Given the description of an element on the screen output the (x, y) to click on. 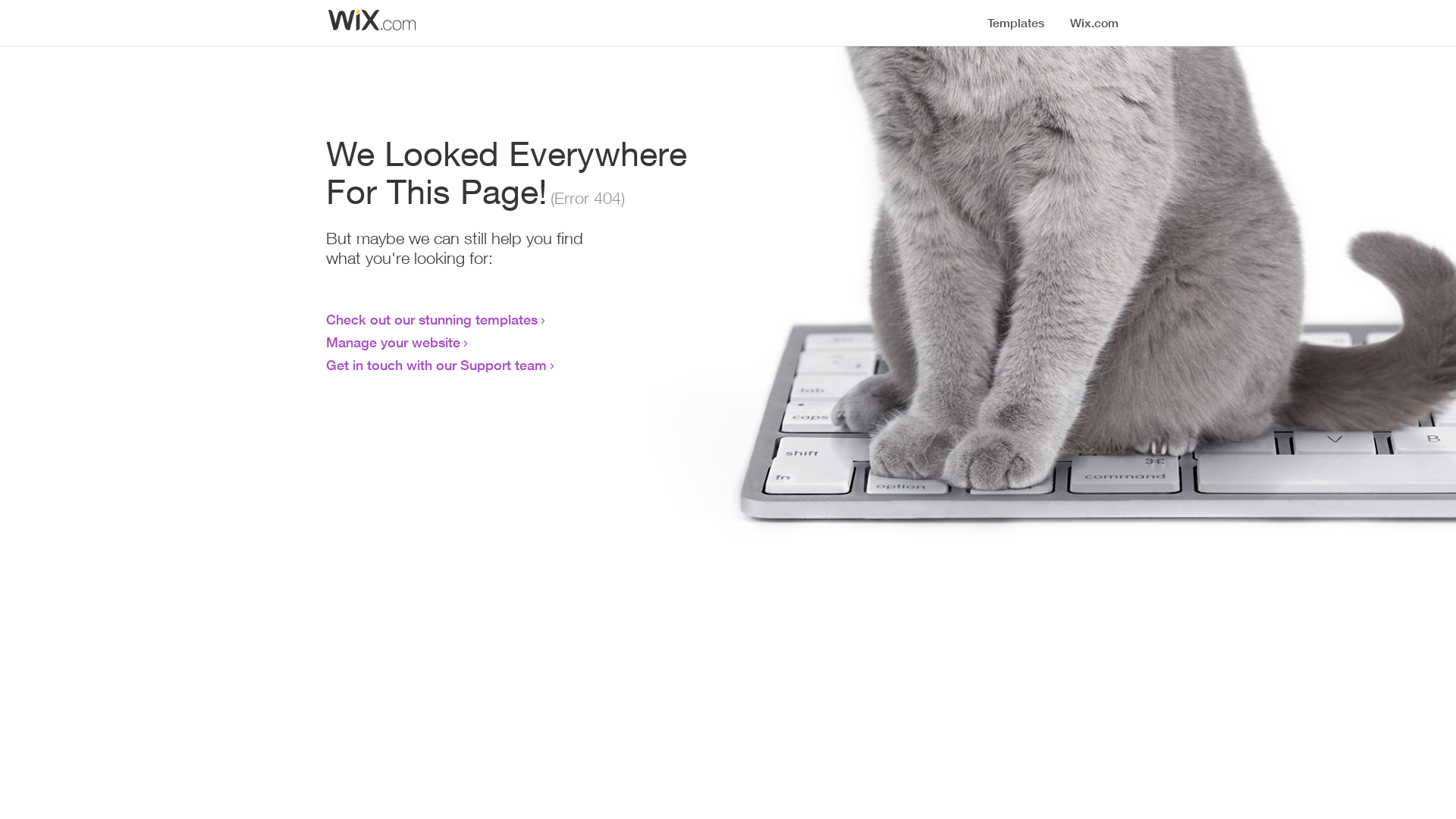
Manage your website Element type: text (393, 341)
Get in touch with our Support team Element type: text (436, 364)
Check out our stunning templates Element type: text (431, 318)
